Given the description of an element on the screen output the (x, y) to click on. 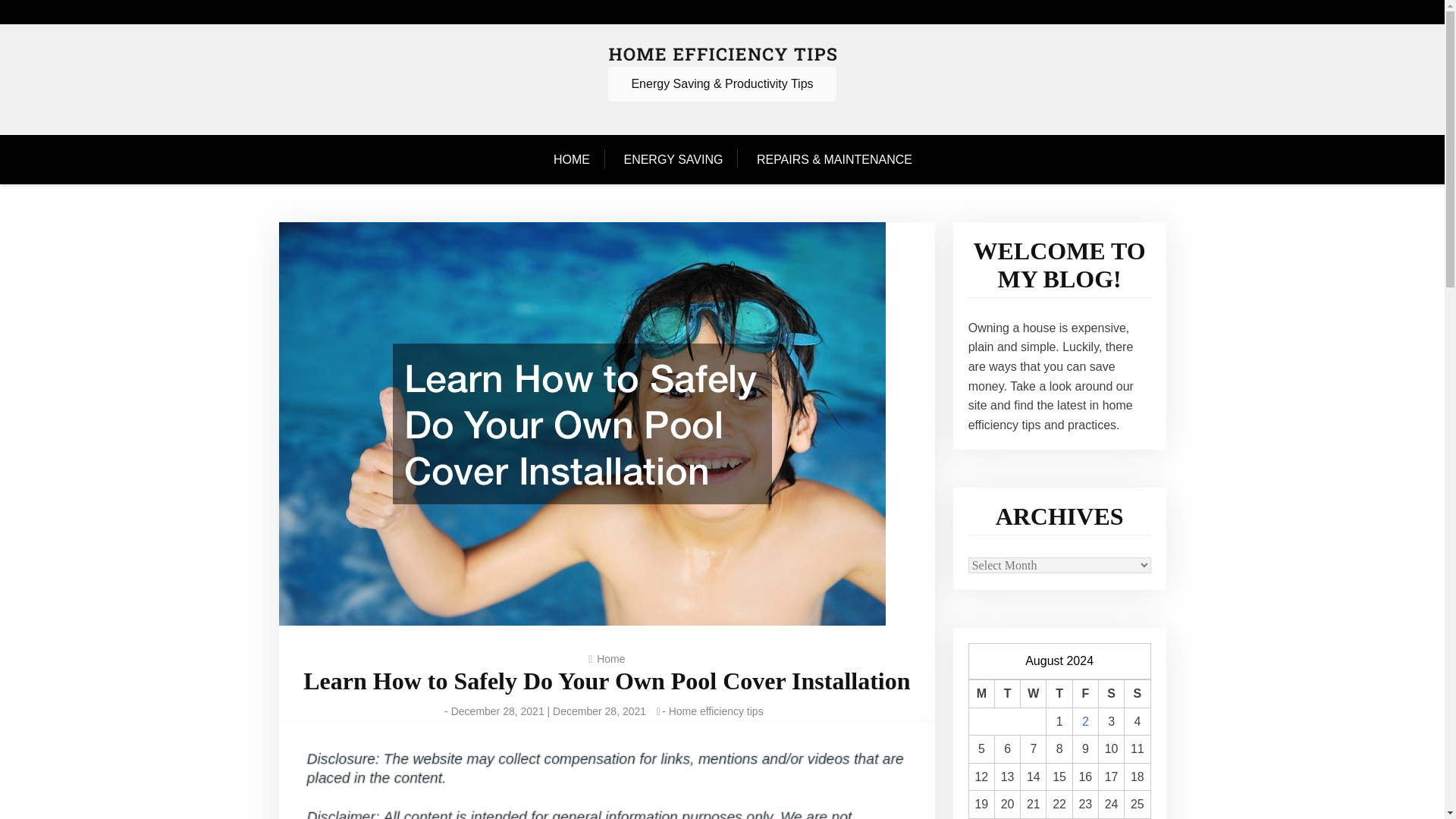
HOME (579, 160)
Monday (981, 694)
Home (610, 658)
Saturday (1110, 694)
Home efficiency tips (715, 711)
Thursday (1058, 694)
Tuesday (1007, 694)
ENERGY SAVING (673, 160)
Sunday (1137, 694)
Wednesday (1033, 694)
Friday (1084, 694)
